Given the description of an element on the screen output the (x, y) to click on. 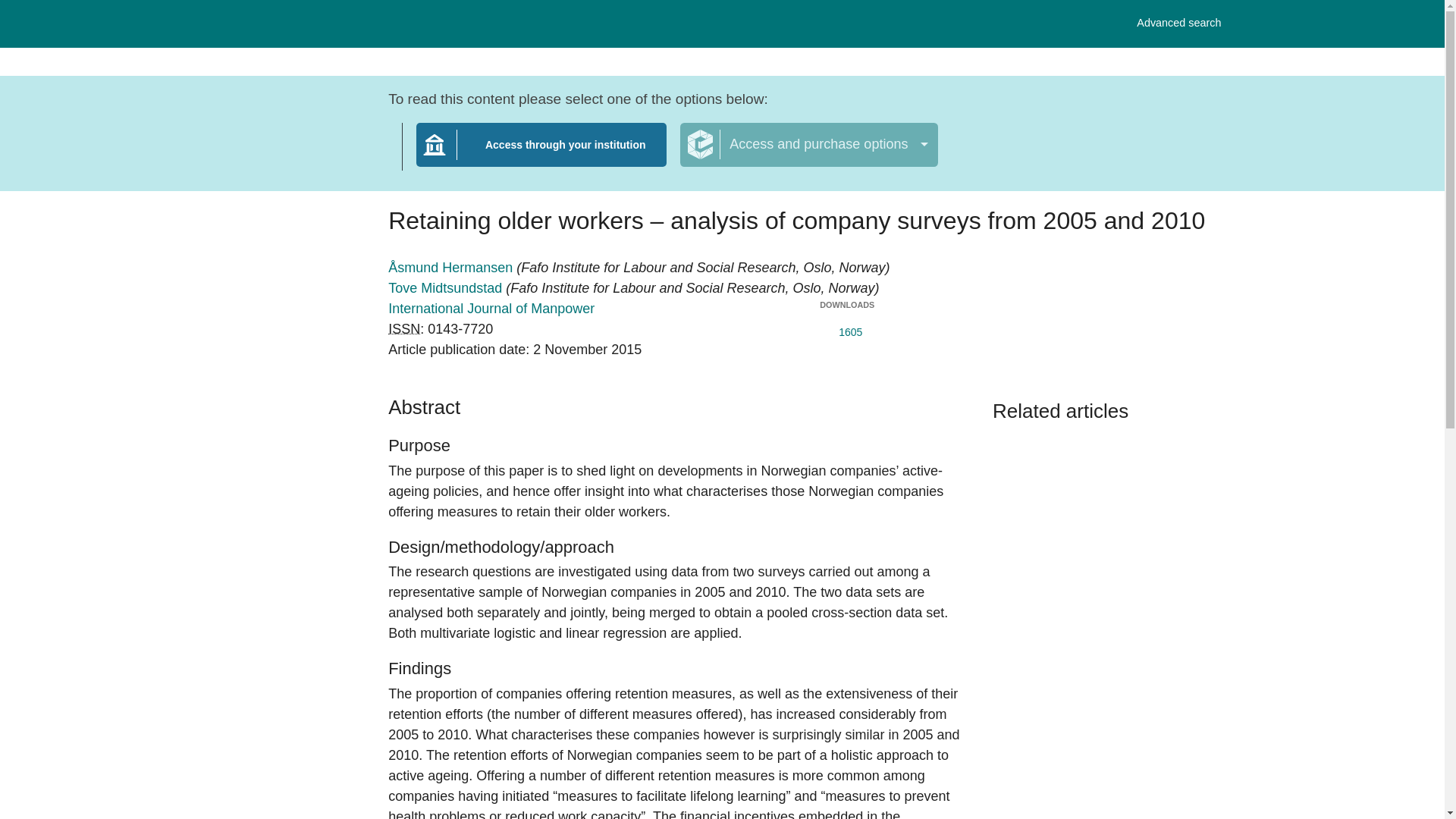
Tove Midtsundstad (446, 287)
Access and purchase options (1178, 23)
International Journal of Manpower (808, 144)
This item has been downloaded 1605 times since 2015. (491, 308)
International Standard Serial Number. (846, 328)
Access through your institution (404, 328)
